Given the description of an element on the screen output the (x, y) to click on. 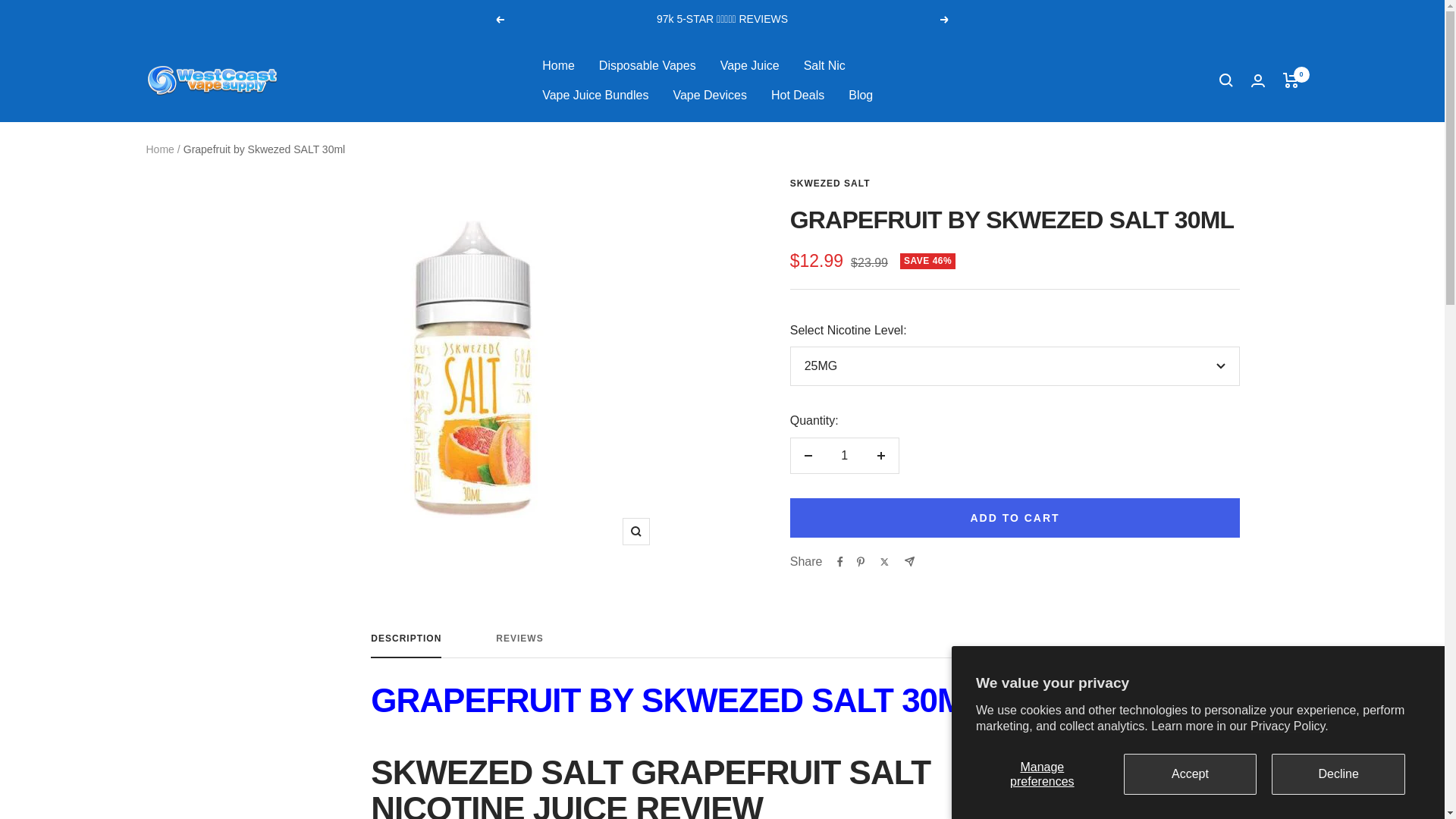
Hot Deals (797, 95)
25MG (1015, 408)
SKWEZED SALT (830, 182)
Accept (1190, 773)
Vape Juice (749, 65)
Zoom (722, 645)
Vape Juice Bundles (636, 530)
50MG (594, 95)
Increase quantity (1015, 441)
Next (880, 455)
Decline (944, 19)
ADD TO CART (1338, 773)
1 (1015, 517)
Blog (844, 455)
